Given the description of an element on the screen output the (x, y) to click on. 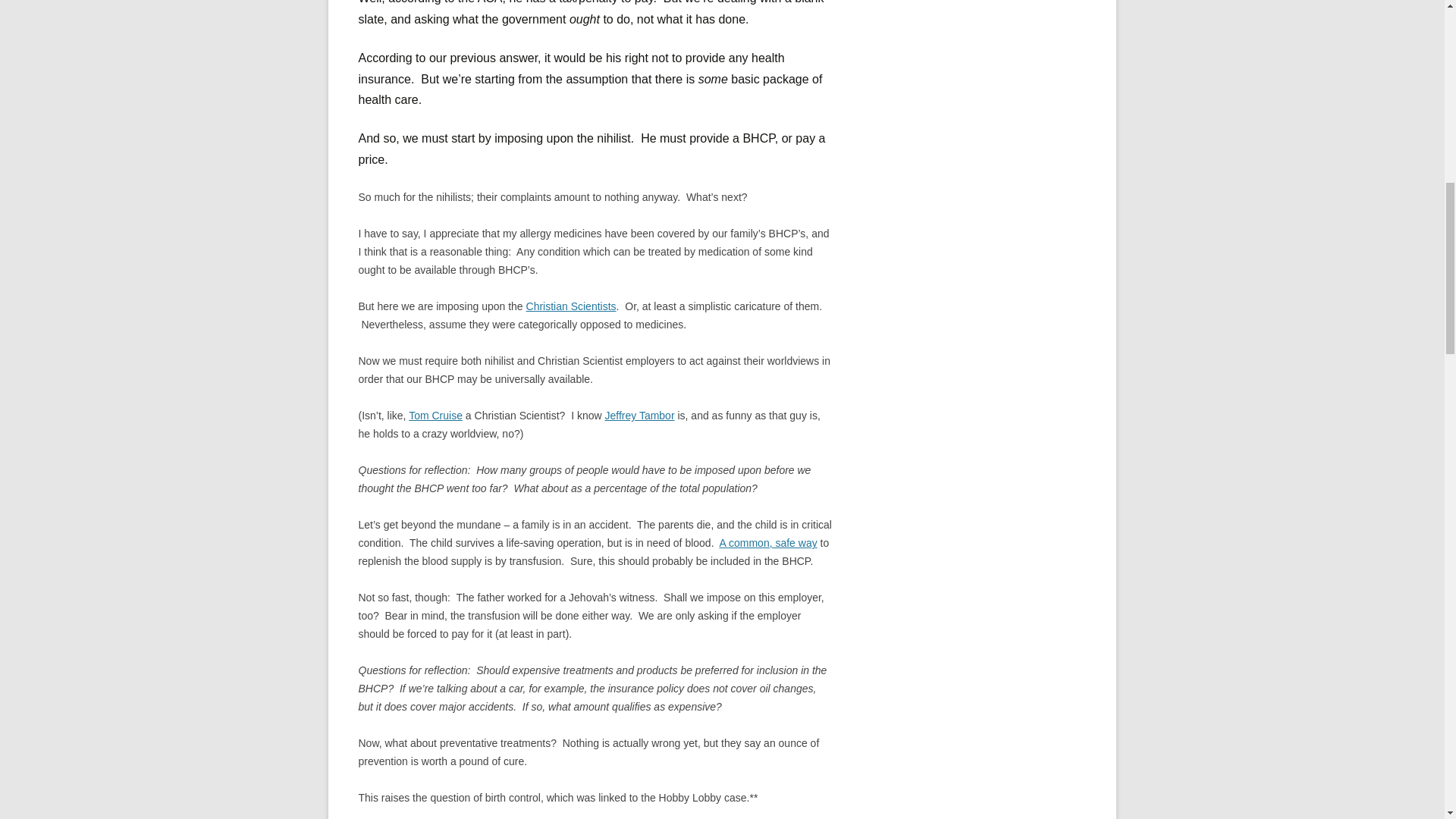
A common, safe way (767, 542)
Tom Cruise (436, 415)
Christian Scientists (570, 306)
Jeffrey Tambor (639, 415)
